Given the description of an element on the screen output the (x, y) to click on. 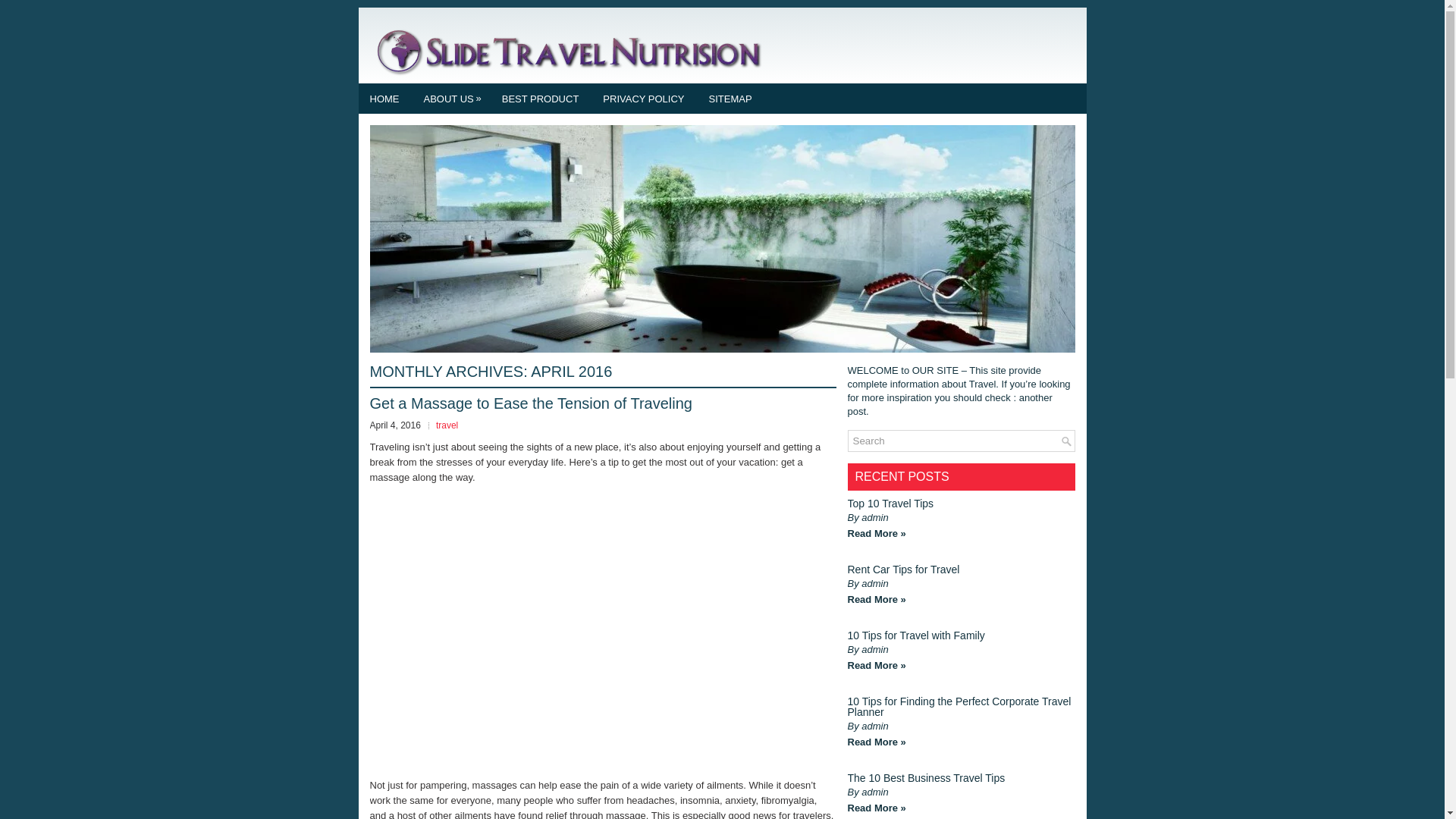
PRIVACY POLICY (643, 98)
Top 10 Travel Tips (890, 503)
Slide Travel Nutrision (567, 50)
10 Tips for Travel with Family (916, 635)
Type and hit enter (961, 440)
travel (446, 425)
Rent Car Tips for Travel (903, 569)
10 Tips for Travel with Family (916, 635)
10 Tips for Finding the Perfect Corporate Travel Planner (959, 706)
The 10 Best Business Travel Tips (926, 777)
This is default featured slide 1 title (722, 348)
Top 10 Travel Tips (890, 503)
Get a Massage to Ease the Tension of Traveling (531, 402)
Permalink to The 10 Best Business Travel Tips (876, 808)
